Given the description of an element on the screen output the (x, y) to click on. 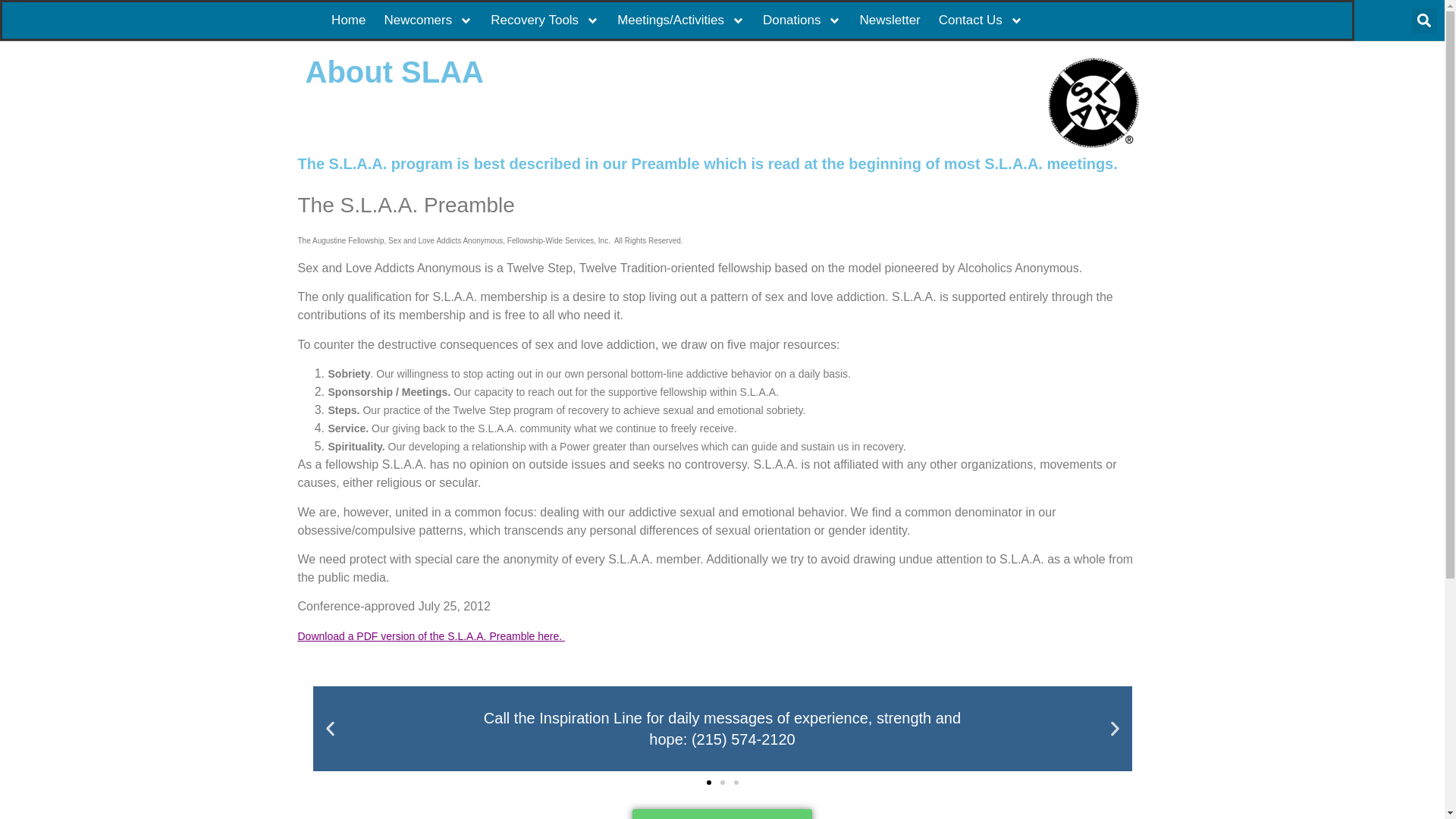
Newcomers (427, 20)
Home (348, 20)
Recovery Tools (544, 20)
